Given the description of an element on the screen output the (x, y) to click on. 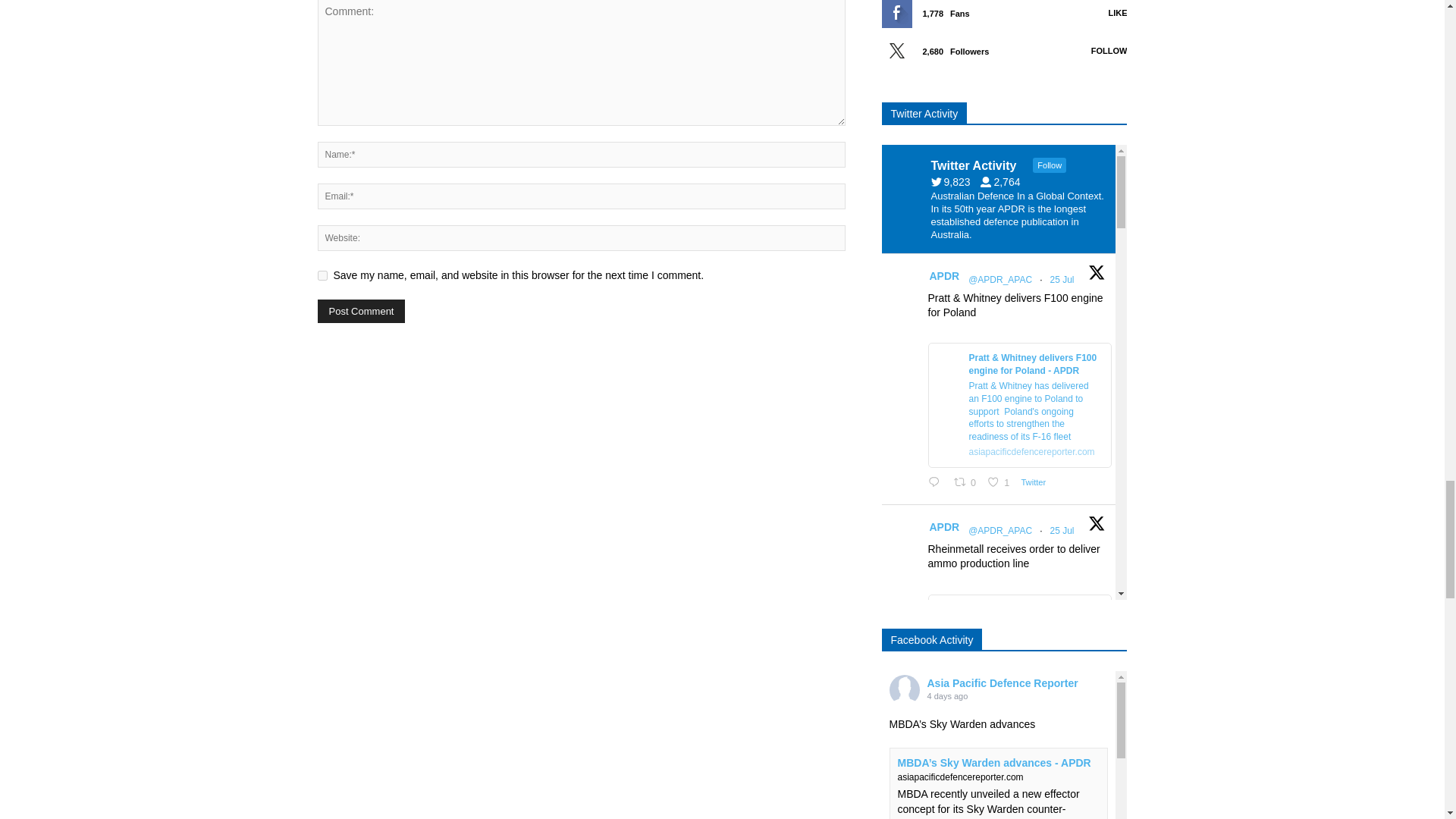
yes (321, 275)
Post Comment (360, 310)
